Given the description of an element on the screen output the (x, y) to click on. 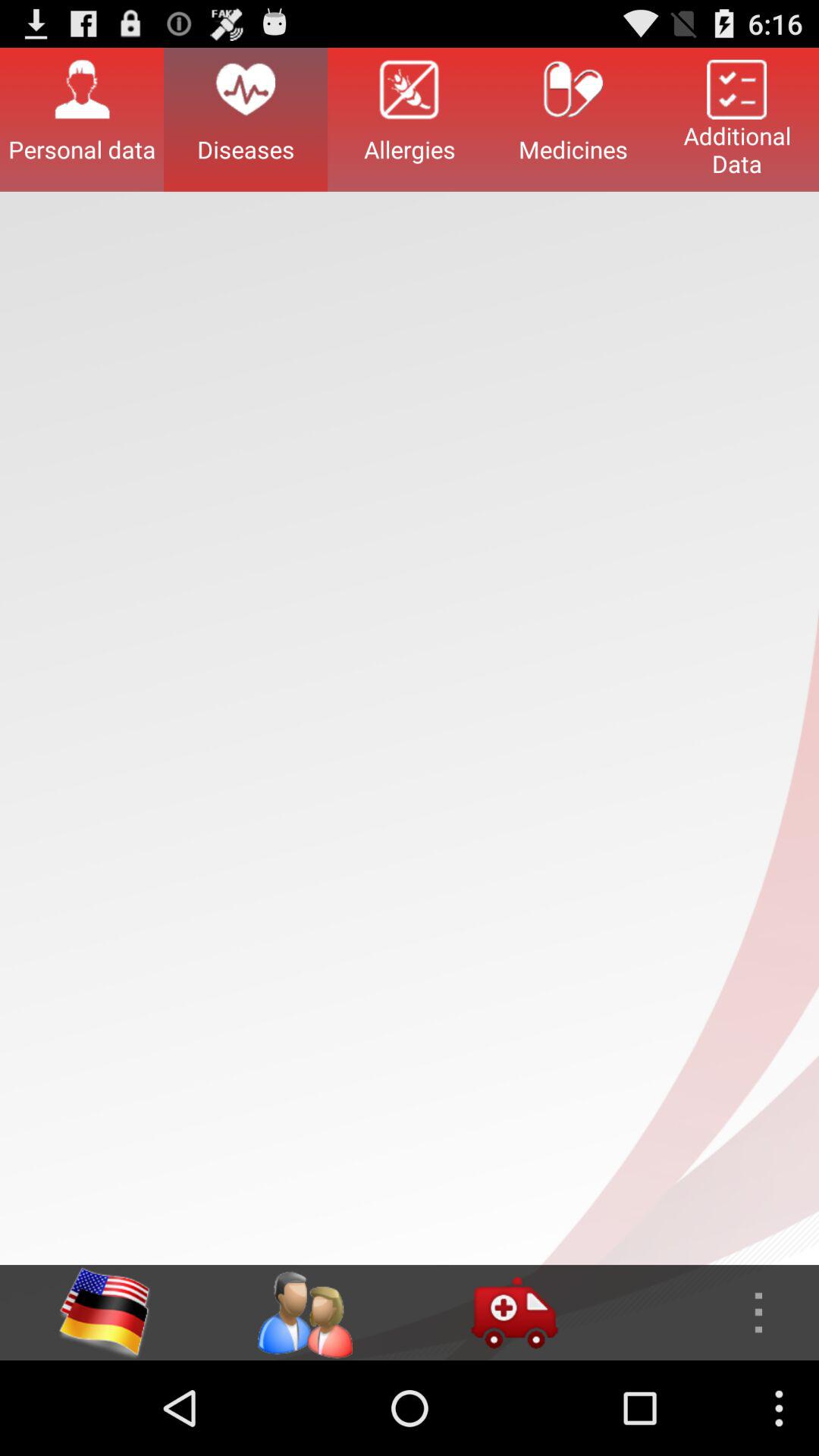
flip to the allergies icon (409, 119)
